Given the description of an element on the screen output the (x, y) to click on. 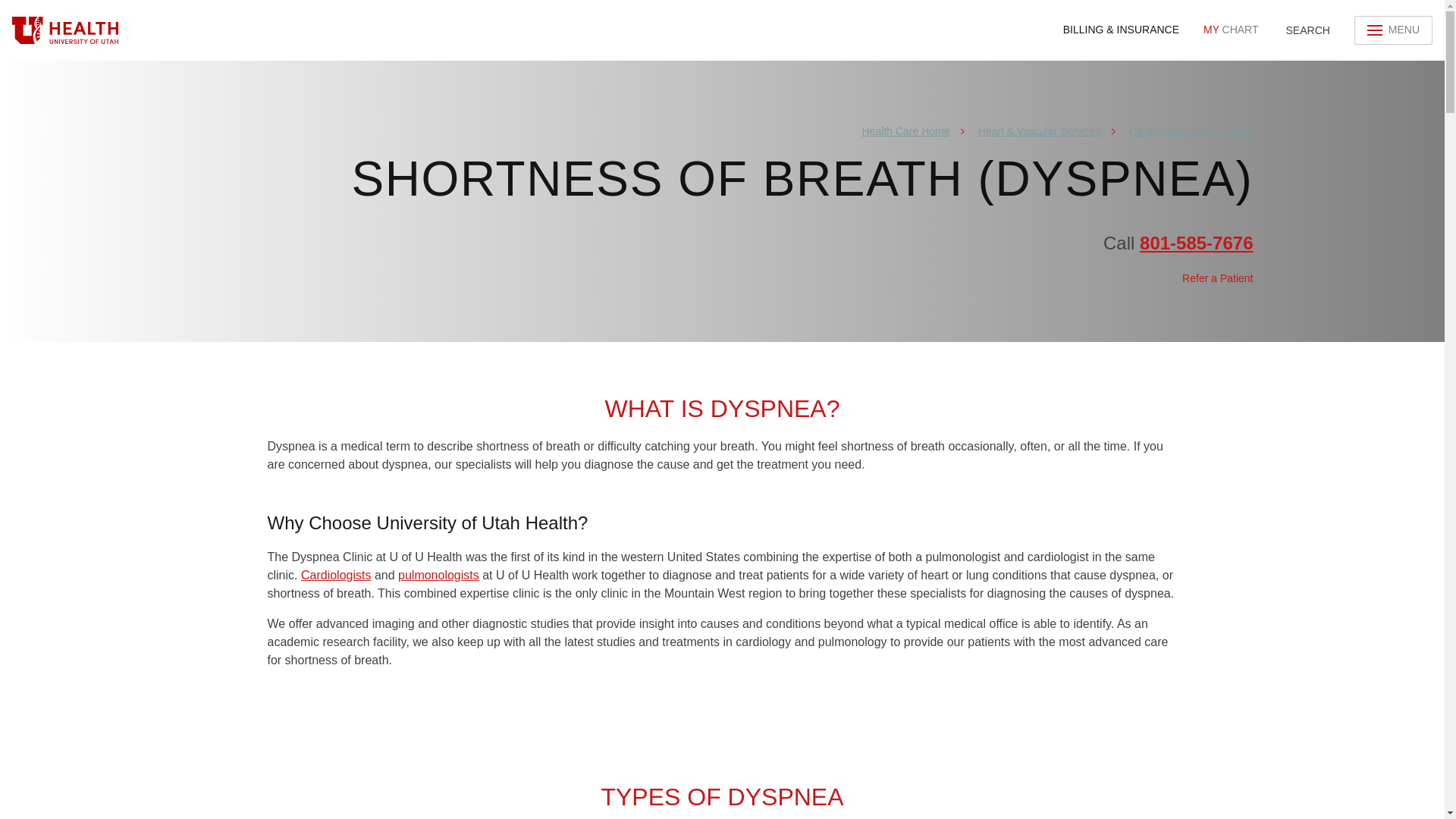
Cardiologists (336, 574)
Pulmonary Services (1230, 30)
pulmonologists (438, 574)
Health Care Home (438, 574)
Cardiovascular Conditions (905, 131)
Skip to main content (1190, 131)
Refer a Patient (1306, 30)
801-585-7676 (1215, 279)
University of Utah Health logo (1196, 243)
MENU (65, 30)
